Given the description of an element on the screen output the (x, y) to click on. 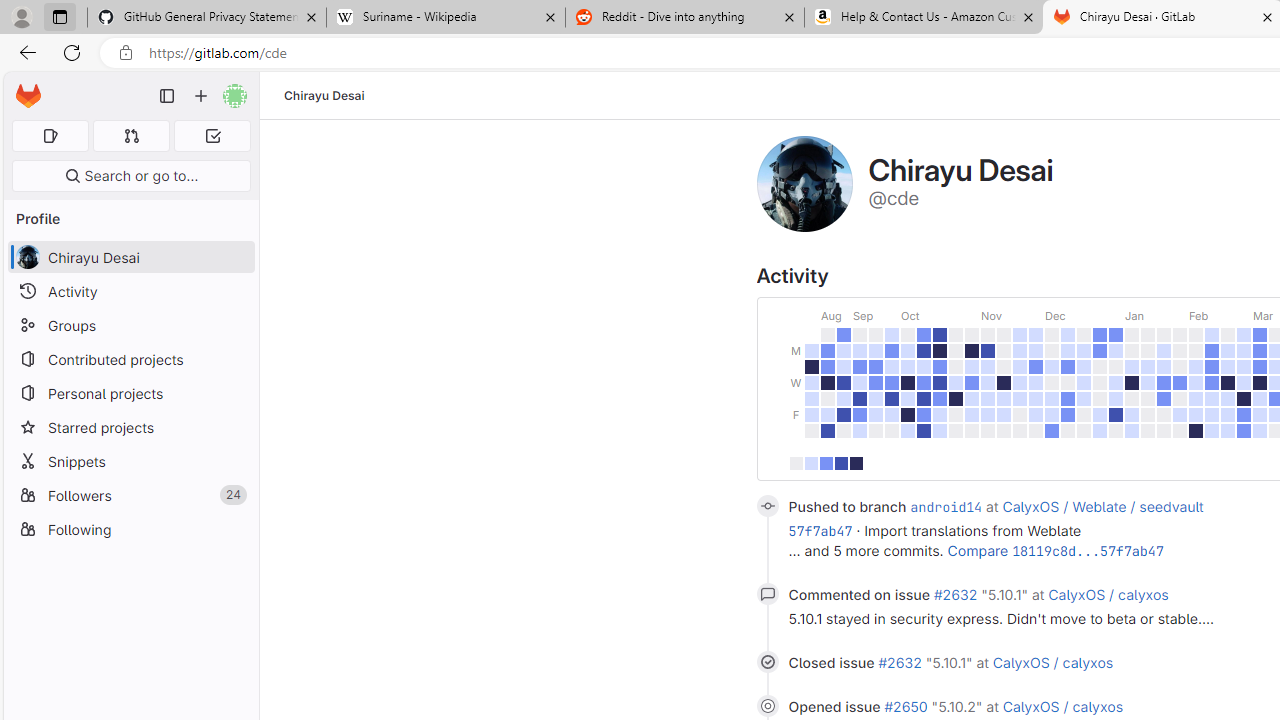
Followers24 (130, 494)
GitHub General Privacy Statement - GitHub Docs (207, 17)
Personal projects (130, 393)
#2650  (907, 705)
